Given the description of an element on the screen output the (x, y) to click on. 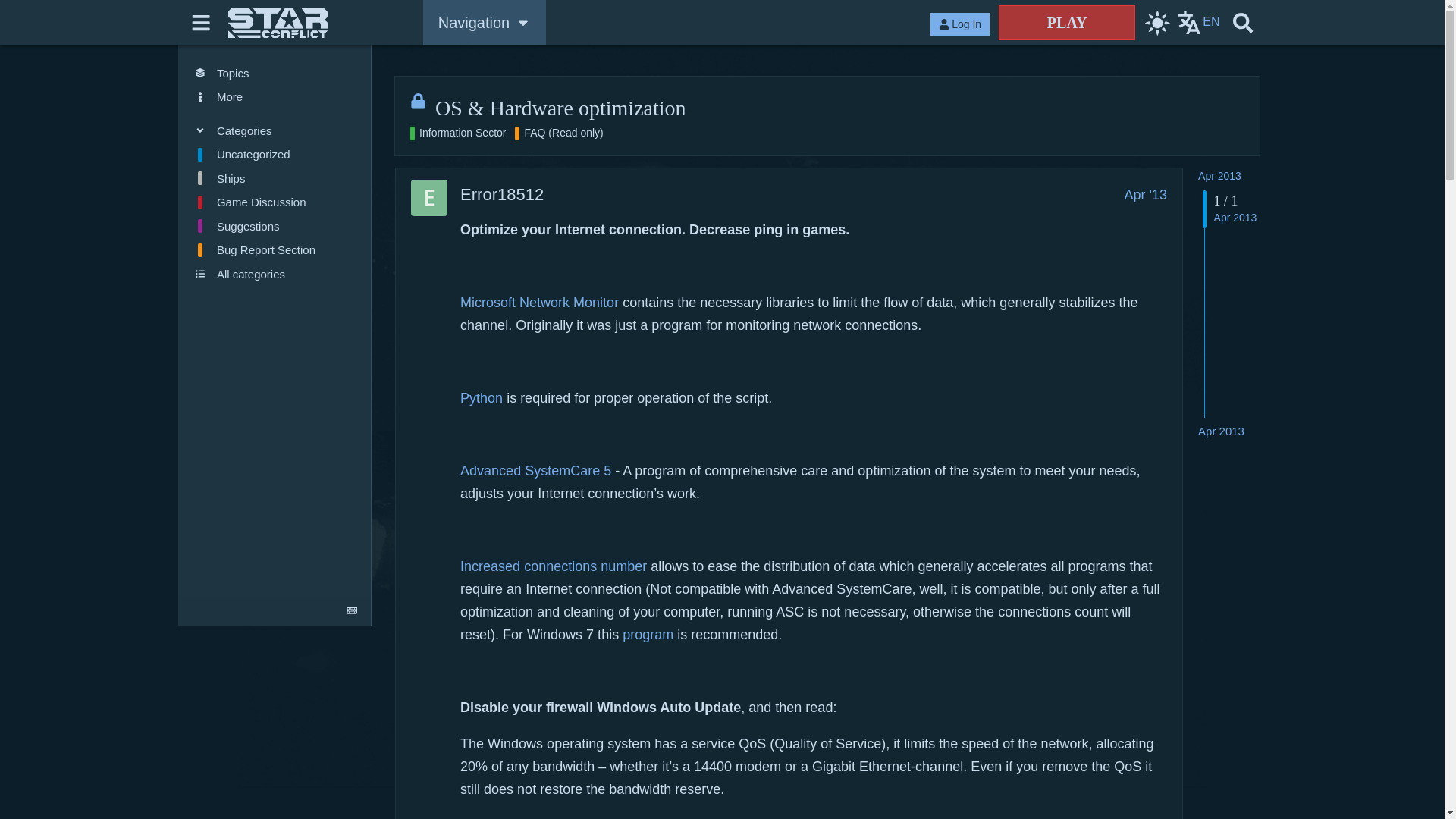
Topics (274, 72)
This topic is closed; it no longer accepts new replies (418, 100)
Apr 2013 (1219, 175)
Hide sidebar (201, 22)
Apr 3, 2013 3:48 pm (1221, 431)
Suggestions (274, 225)
Log In (960, 24)
Microsoft Network Monitor (539, 302)
All topics (274, 72)
Apr '13 (1145, 194)
Information Sector (457, 133)
Categories (274, 130)
Suggestion Guideline (274, 225)
Toggle section (274, 130)
